Given the description of an element on the screen output the (x, y) to click on. 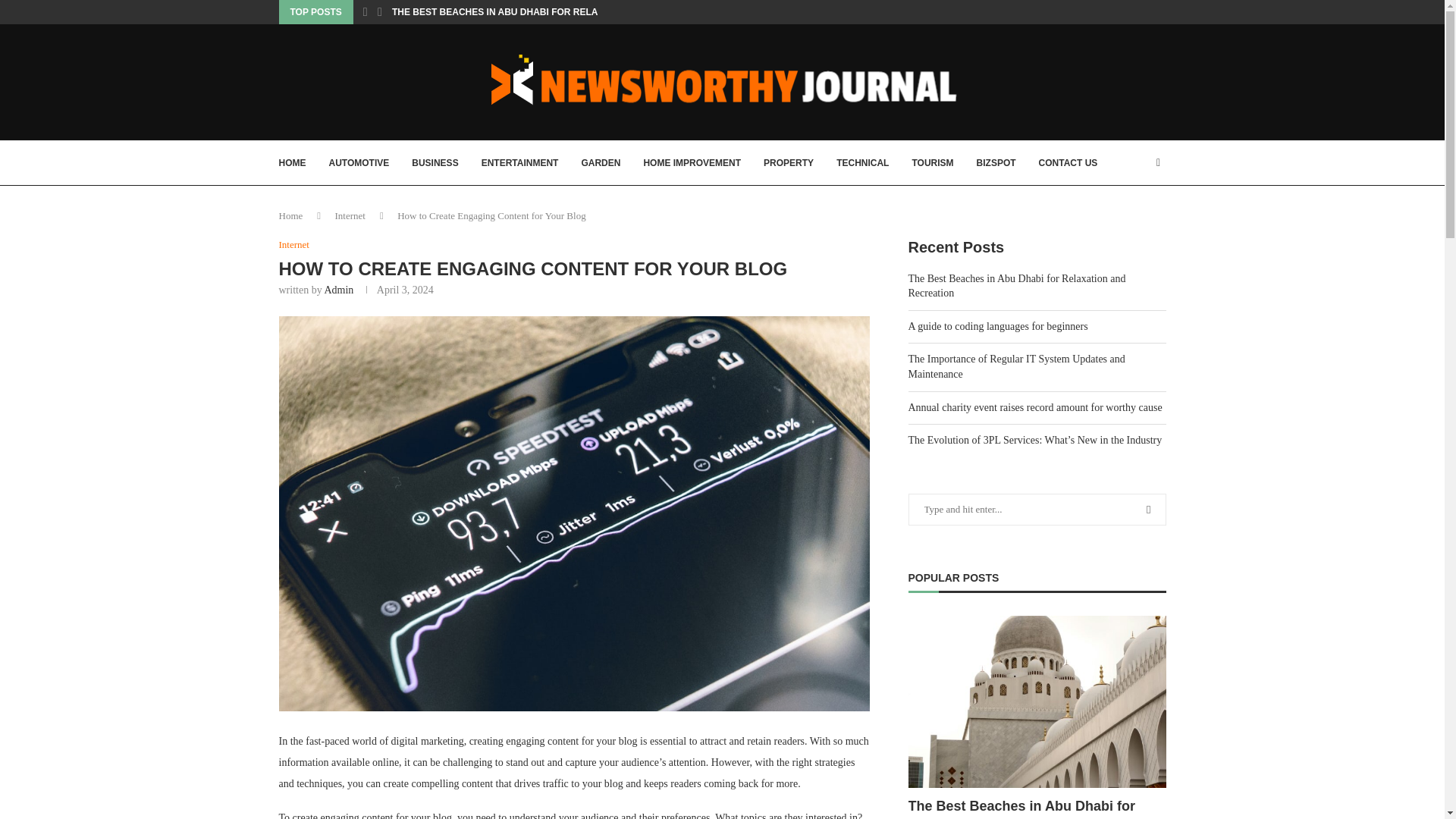
PROPERTY (787, 162)
GARDEN (600, 162)
Admin (338, 289)
AUTOMOTIVE (359, 162)
Internet (293, 244)
BIZSPOT (996, 162)
TOURISM (932, 162)
THE BEST BEACHES IN ABU DHABI FOR RELAXATION... (515, 12)
Home (290, 215)
